Given the description of an element on the screen output the (x, y) to click on. 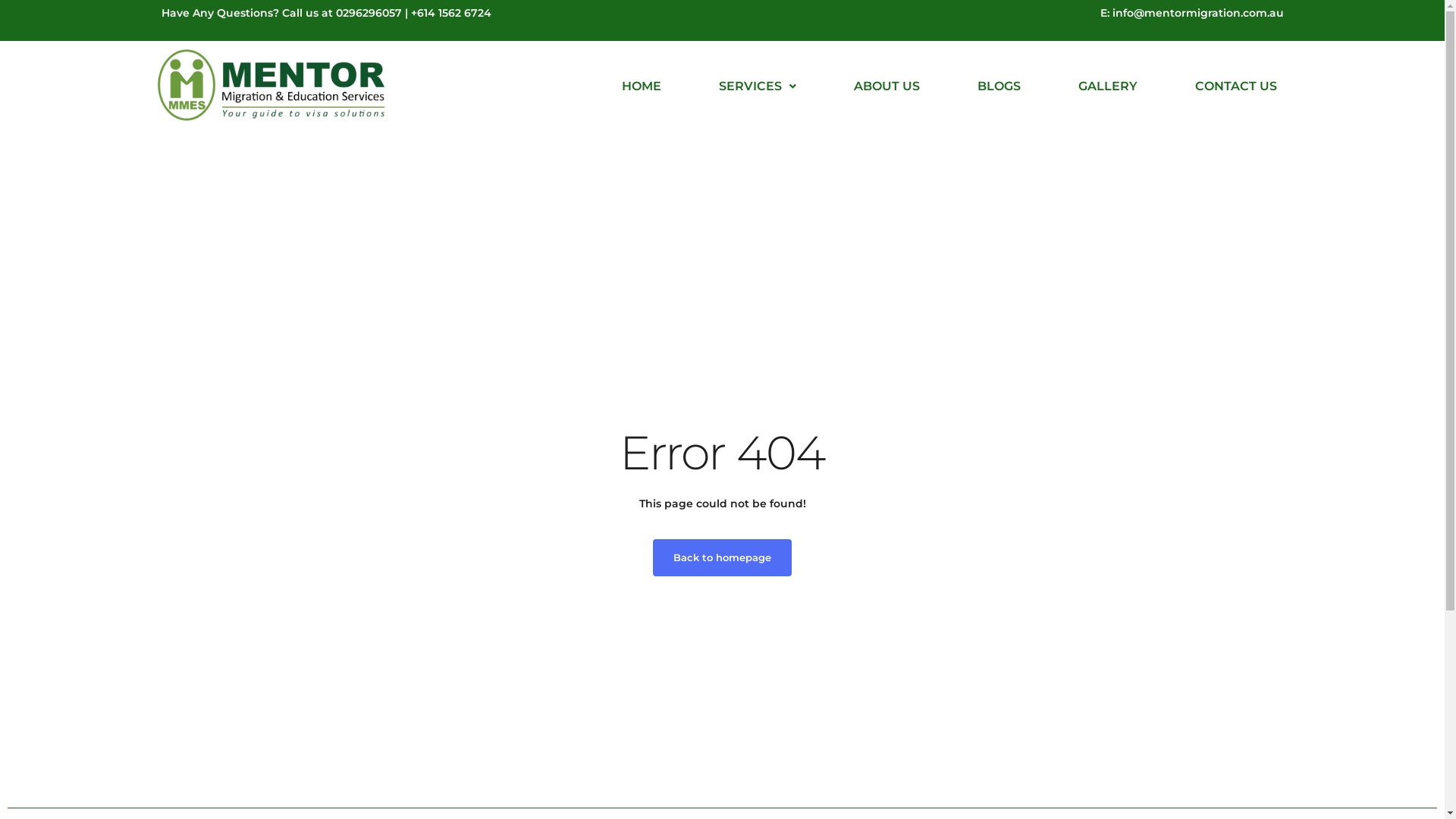
HOME Element type: text (641, 86)
GALLERY Element type: text (1107, 86)
BLOGS Element type: text (998, 86)
ABOUT US Element type: text (886, 86)
SERVICES Element type: text (757, 86)
Back to homepage Element type: text (721, 557)
CONTACT US Element type: text (1235, 86)
